Given the description of an element on the screen output the (x, y) to click on. 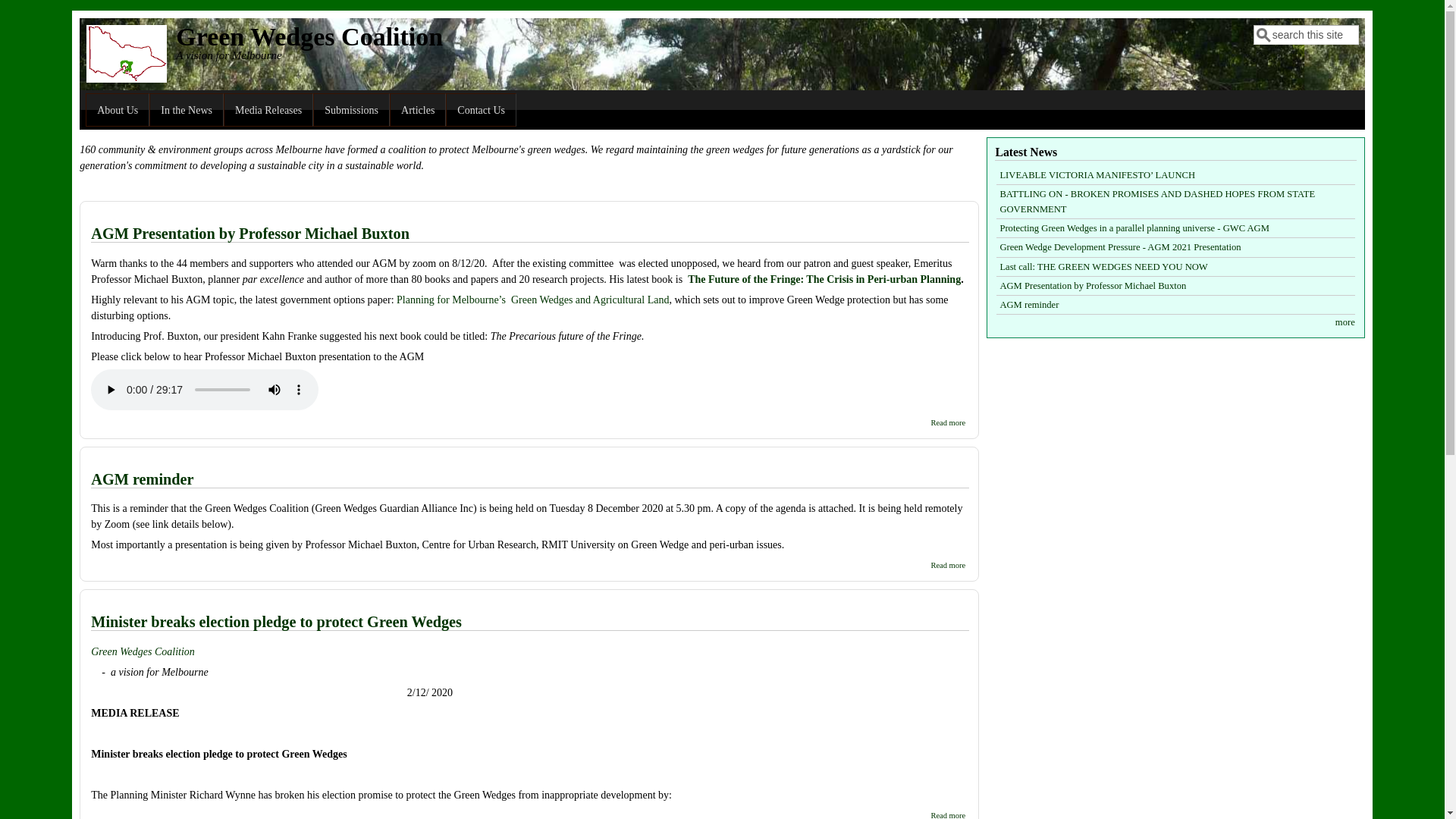
Minister breaks election pledge to protect Green Wedges Element type: text (276, 621)
AGM Presentation by Professor Michael Buxton Element type: text (250, 233)
Green Wedges Coalition Element type: text (308, 36)
Contact Us Element type: text (480, 109)
Skip to main content Element type: text (43, 10)
Home Element type: hover (126, 78)
Read more
about AGM Presentation by Professor Michael Buxton Element type: text (947, 422)
AGM Presentation by Professor Michael Buxton Element type: text (1092, 285)
AGM reminder Element type: text (1028, 304)
Green Wedge Development Pressure - AGM 2021 Presentation Element type: text (1119, 246)
Submissions Element type: text (351, 109)
Media Releases Element type: text (268, 109)
The Future of the Fringe: The Crisis in Peri-urban Planning Element type: text (823, 279)
About Us Element type: text (117, 109)
Last call: THE GREEN WEDGES NEED YOU NOW Element type: text (1103, 266)
Articles Element type: text (417, 109)
Read more
about AGM reminder Element type: text (947, 565)
more Element type: text (1345, 321)
In the News Element type: text (186, 109)
Green Wedges Coalition Element type: text (142, 651)
AGM reminder Element type: text (142, 478)
Michael Buxton AGM Dec 2020.mp3 Element type: text (211, 389)
